Given the description of an element on the screen output the (x, y) to click on. 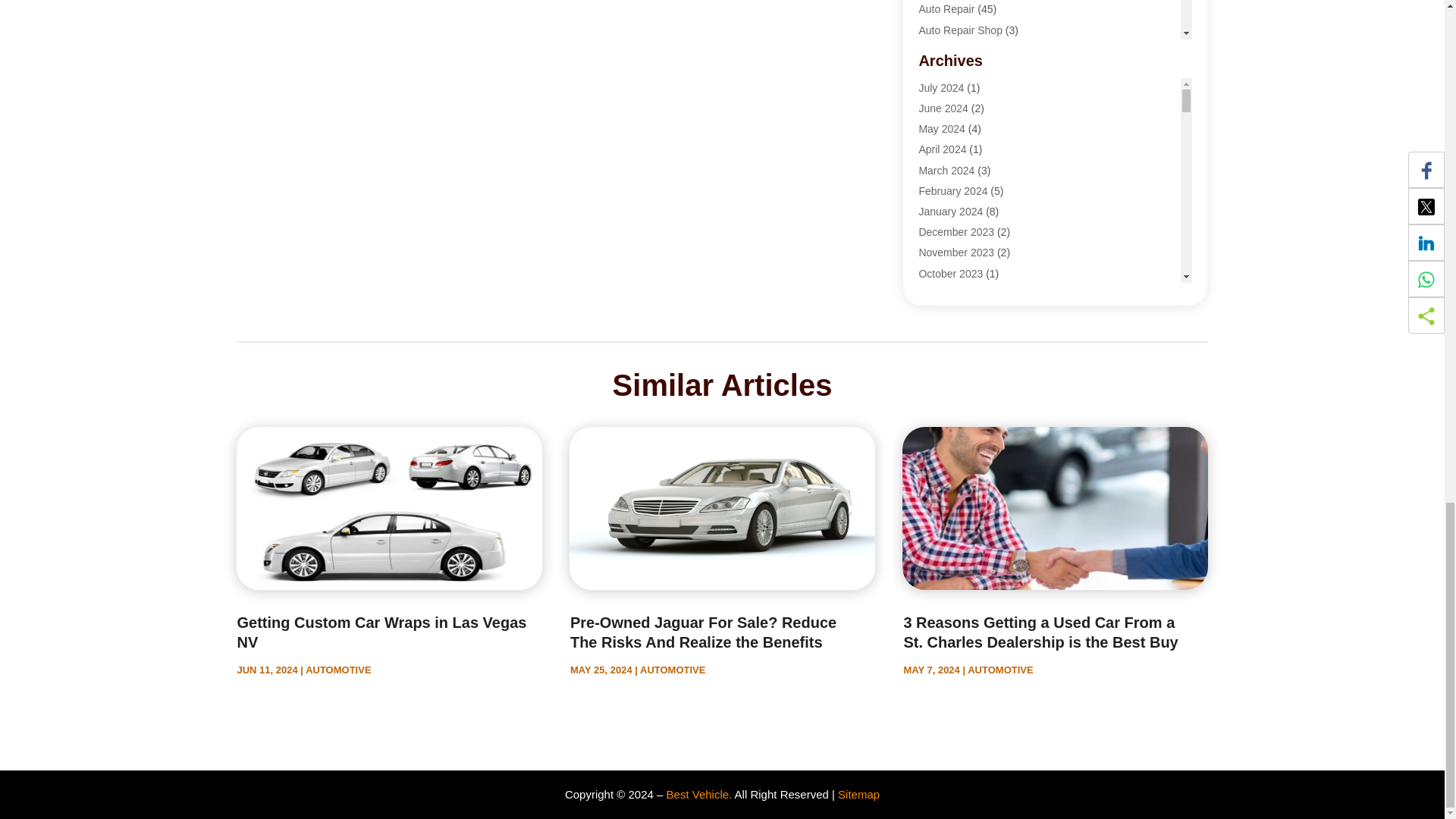
Auto Repair Shop (960, 30)
Autos (931, 111)
Best Vehicle (947, 133)
Automobile Maintenance (976, 50)
Automotive (944, 70)
Automotive Repair Shop (975, 91)
Auto Repair (946, 9)
